Given the description of an element on the screen output the (x, y) to click on. 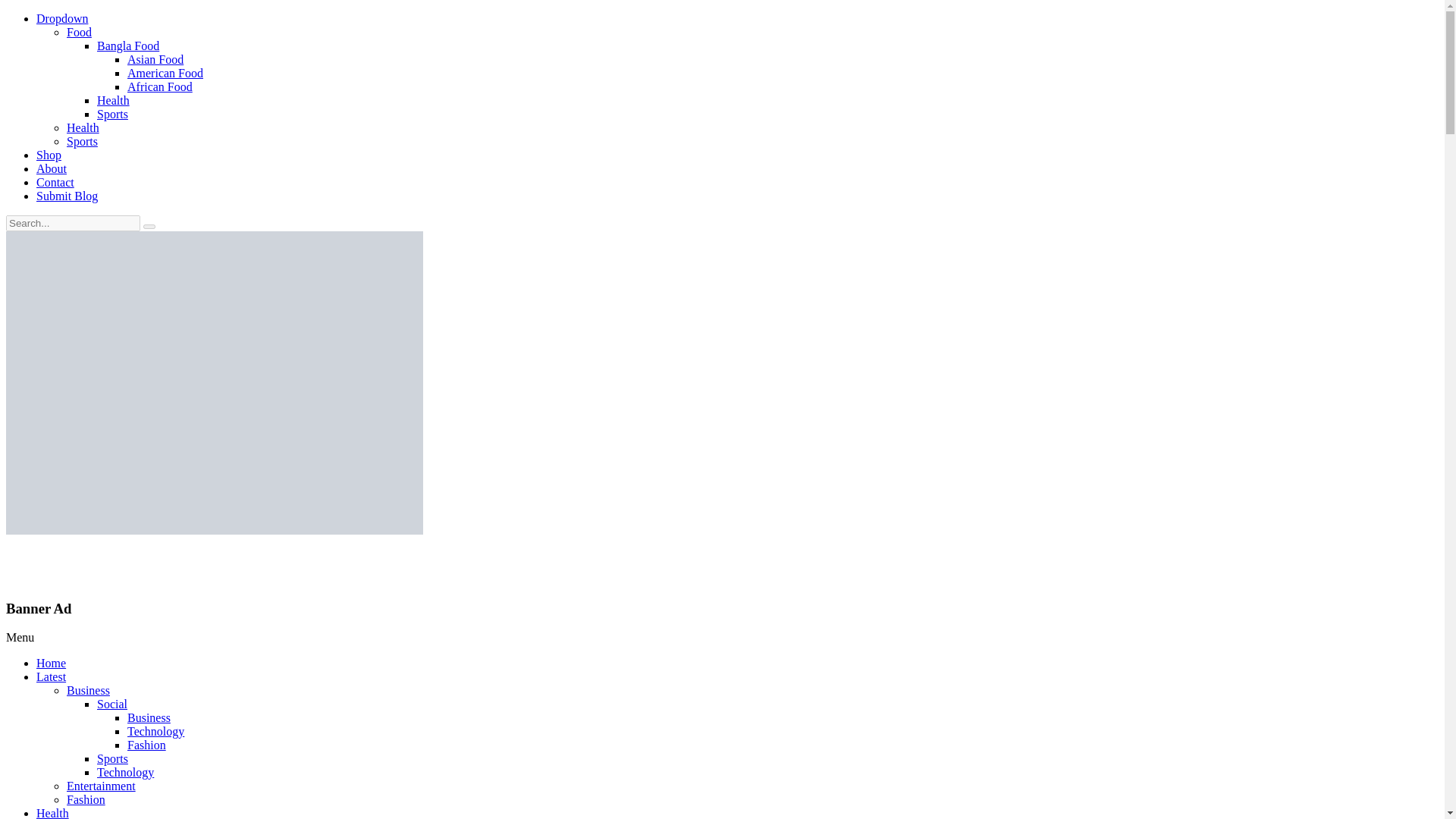
Fashion (146, 744)
Entertainment (100, 785)
Technology (125, 771)
Food (78, 31)
Home (50, 662)
Business (88, 689)
Social (112, 703)
Health (113, 100)
American Food (165, 72)
Asian Food (155, 59)
Sports (112, 113)
Health (52, 812)
Dropdown (61, 18)
Fashion (85, 799)
Technology (156, 730)
